Given the description of an element on the screen output the (x, y) to click on. 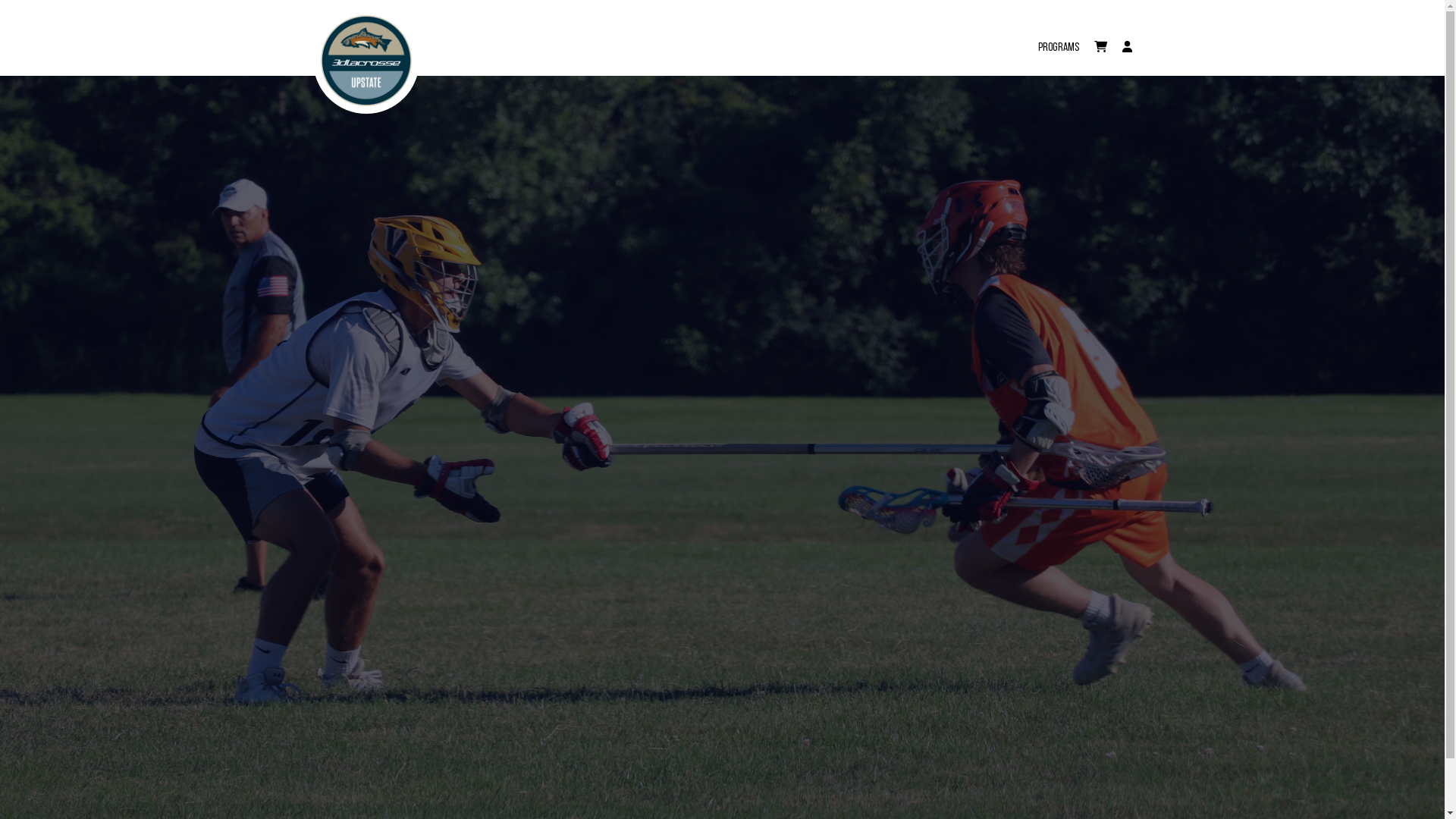
Programs Element type: text (1057, 38)
